Given the description of an element on the screen output the (x, y) to click on. 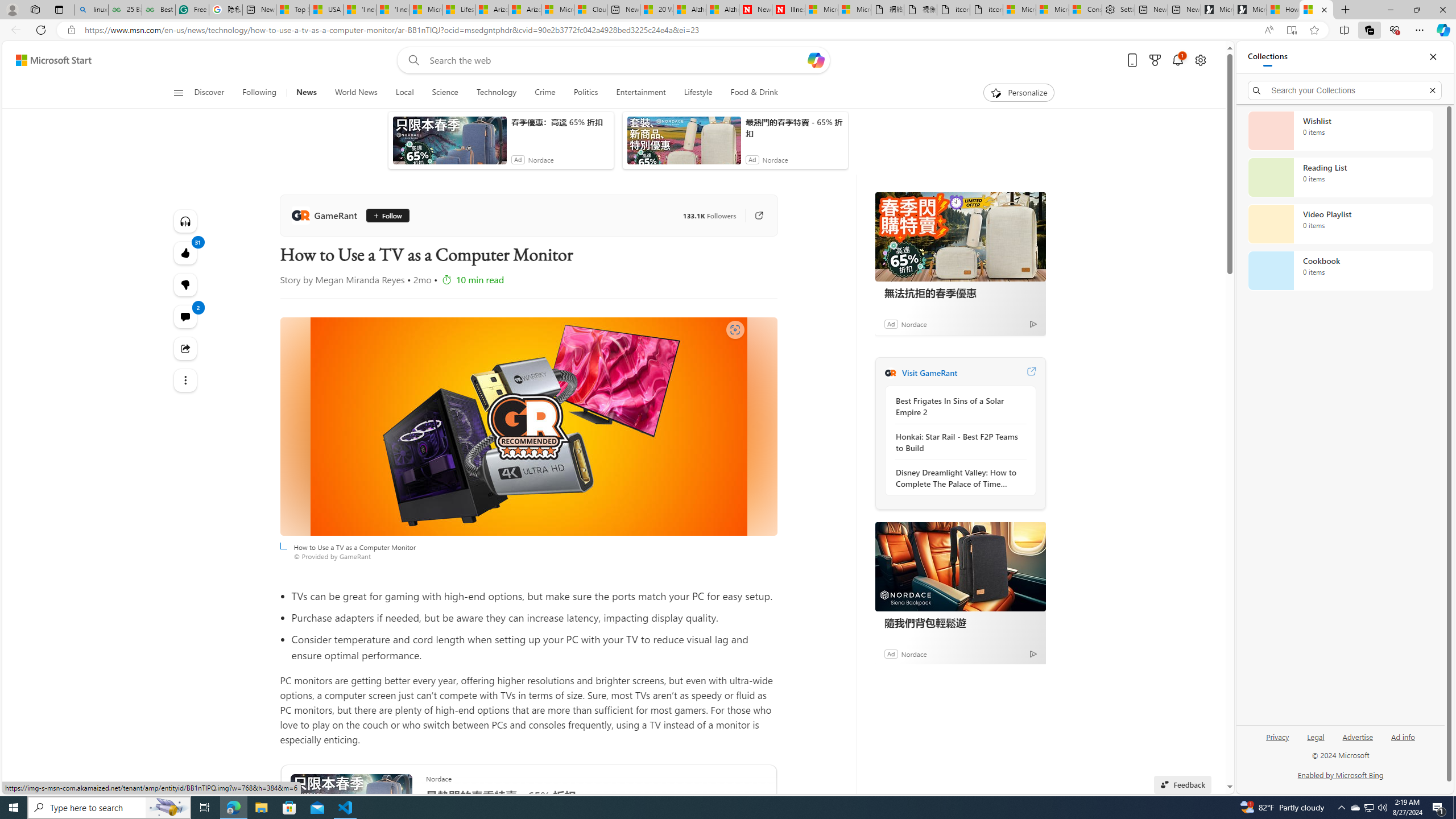
GameRant (889, 372)
Ad Choice (1032, 653)
Notifications (1177, 60)
Open Copilot (816, 59)
Entertainment (640, 92)
Ad info (1402, 741)
Best Frigates In Sins of a Solar Empire 2 (957, 406)
Cloud Computing Services | Microsoft Azure (590, 9)
Personalize (1019, 92)
World News (355, 92)
Share this story (184, 348)
Dislike (184, 284)
Wishlist collection, 0 items (1339, 130)
